Given the description of an element on the screen output the (x, y) to click on. 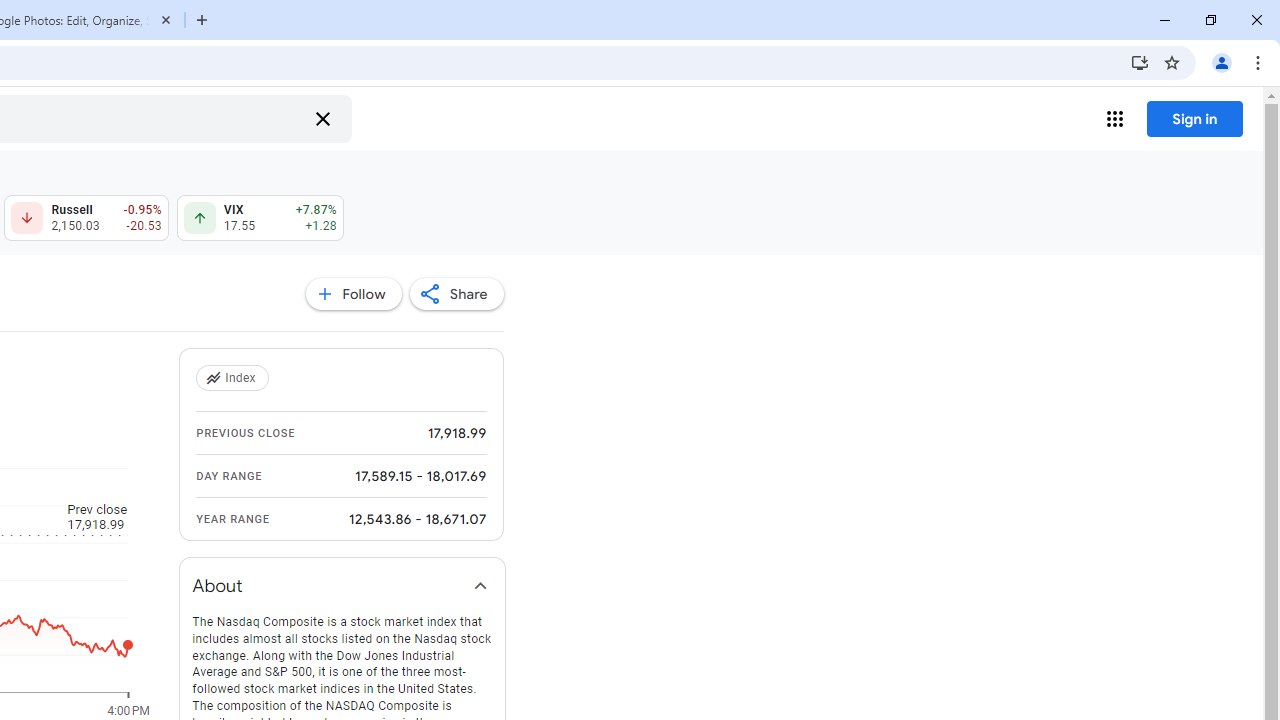
VIX 17.55 Up by 7.87% +1.28 (260, 218)
Share (456, 293)
Clear search (322, 118)
Index (233, 377)
About (342, 586)
Russell 2,150.03 Down by 0.95% -20.53 (85, 218)
Follow (353, 293)
